Given the description of an element on the screen output the (x, y) to click on. 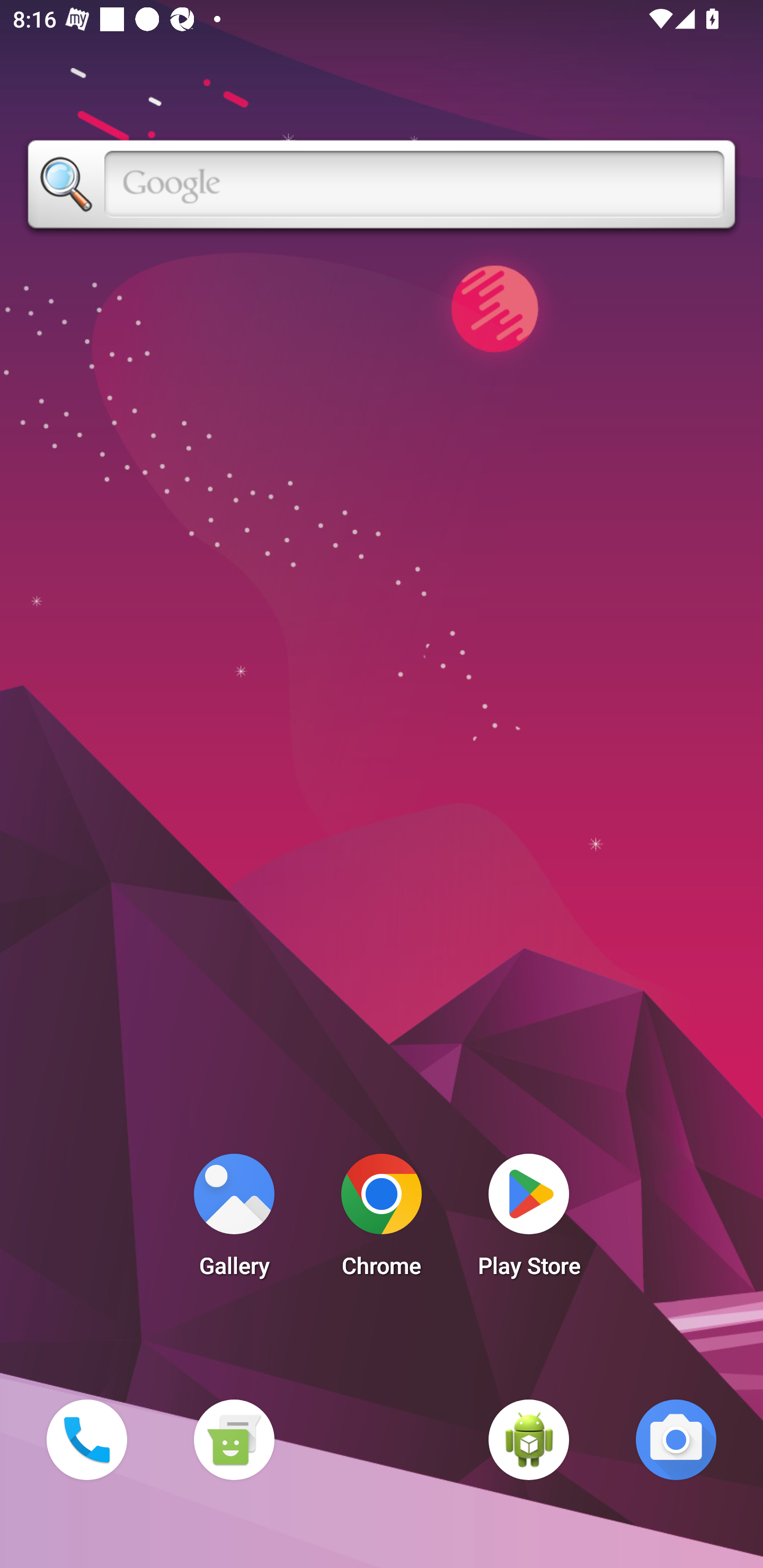
Gallery (233, 1220)
Chrome (381, 1220)
Play Store (528, 1220)
Phone (86, 1439)
Messaging (233, 1439)
WebView Browser Tester (528, 1439)
Camera (676, 1439)
